Given the description of an element on the screen output the (x, y) to click on. 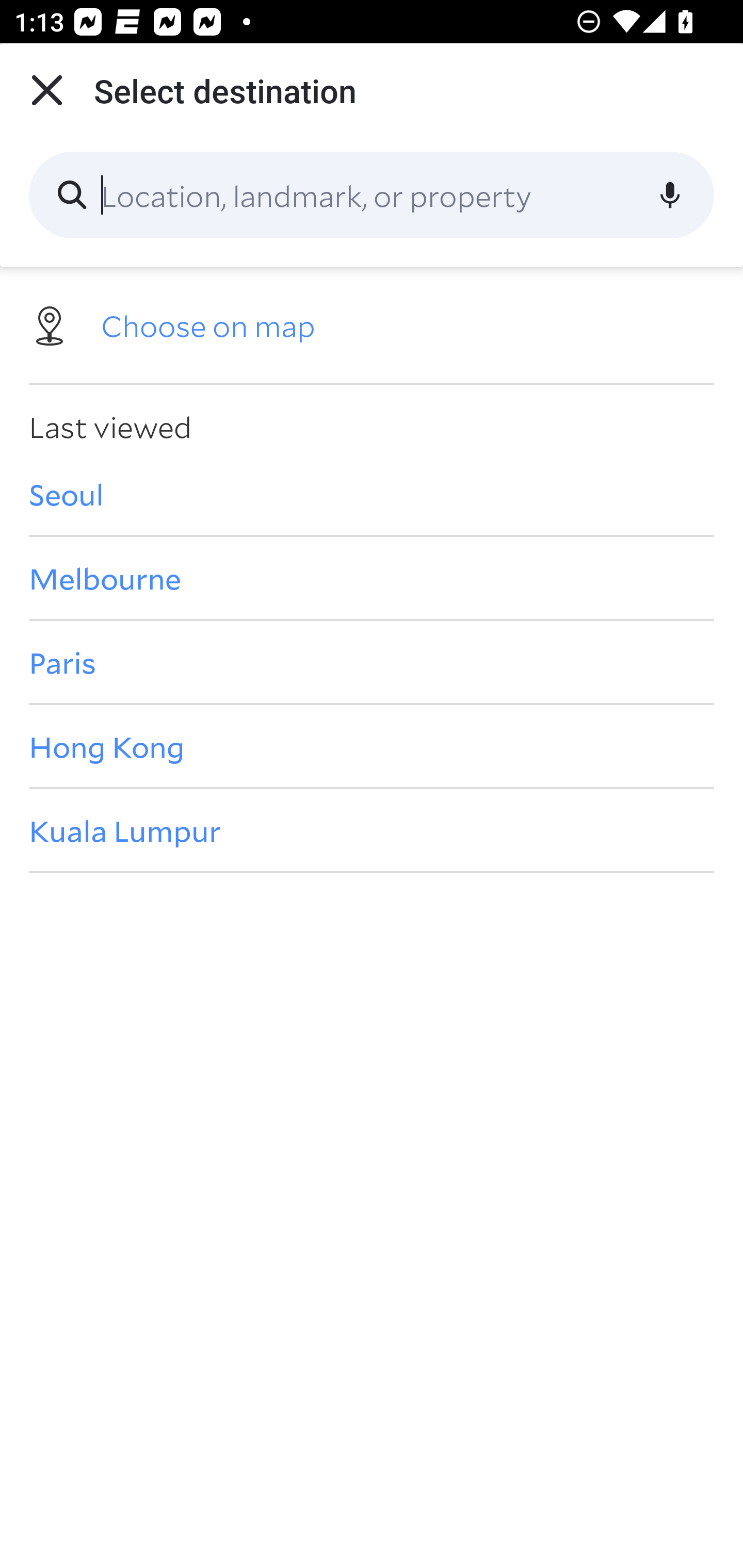
Location, landmark, or property (371, 195)
Choose on map (371, 324)
Seoul (371, 493)
Melbourne (371, 577)
Paris (371, 661)
Hong Kong (371, 746)
Kuala Lumpur (371, 829)
